Given the description of an element on the screen output the (x, y) to click on. 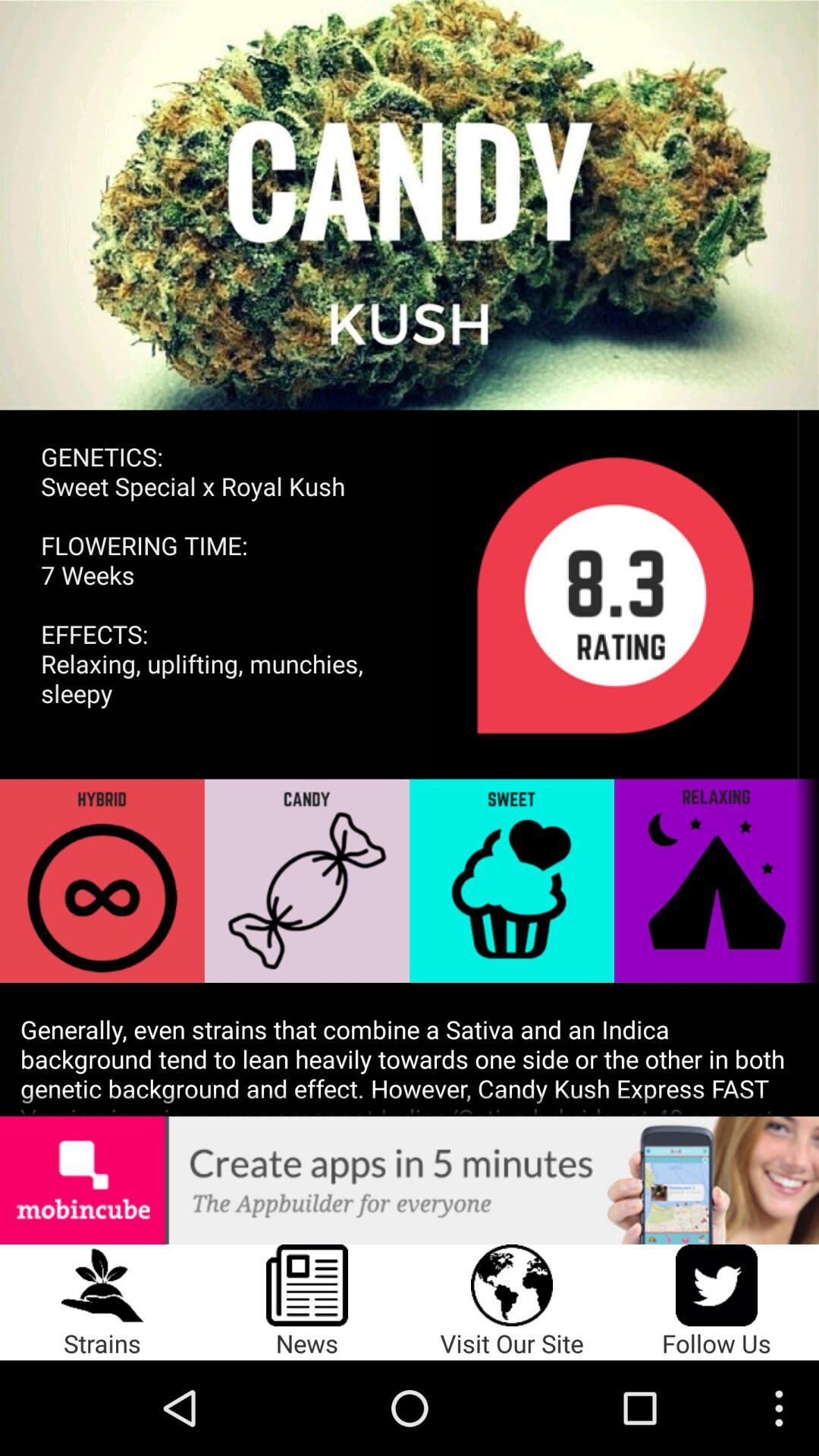
advertising link (409, 1180)
